Given the description of an element on the screen output the (x, y) to click on. 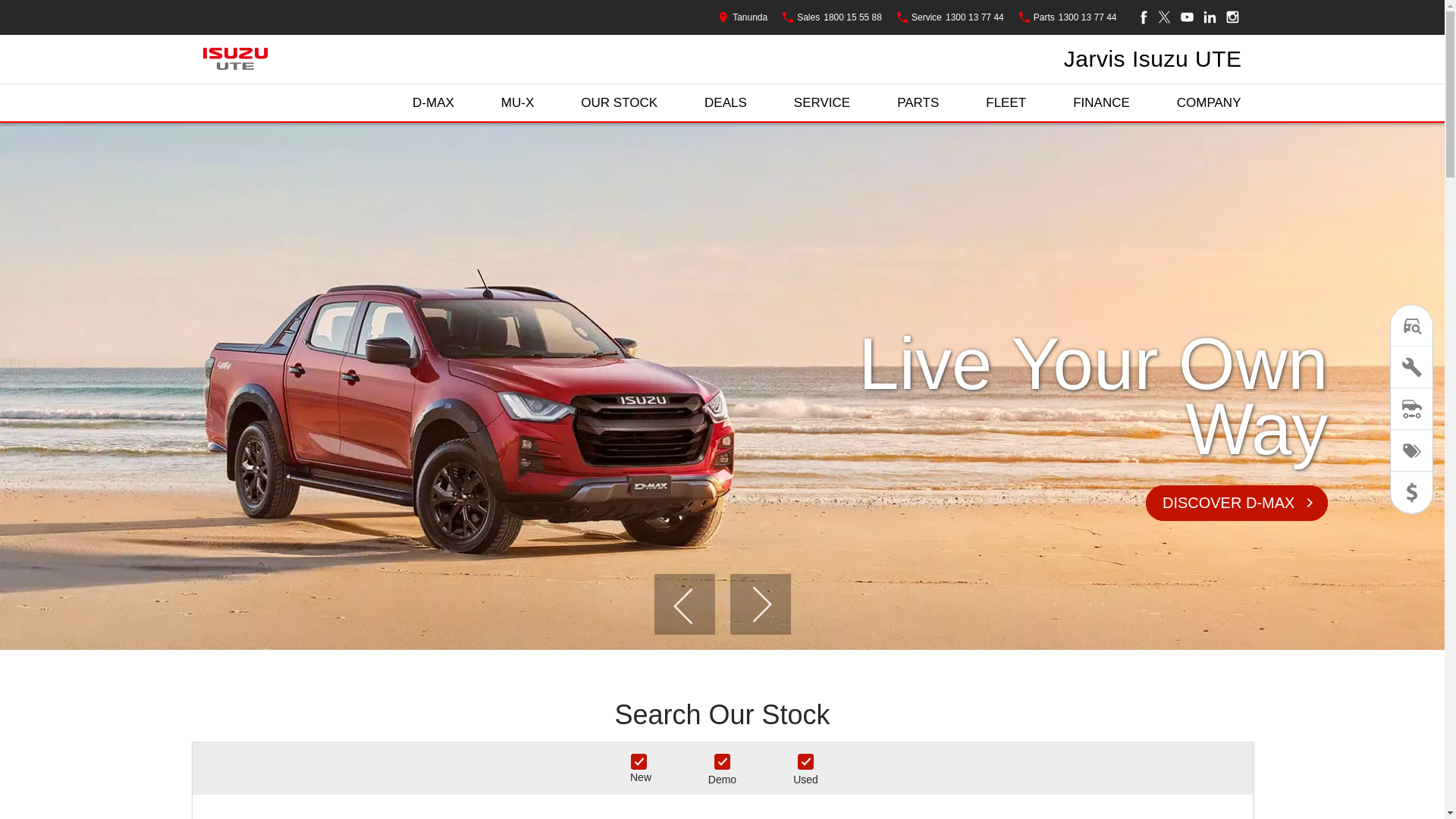
Jarvis Isuzu UTE Element type: text (1152, 59)
Sales
1800 15 55 88 Element type: text (831, 16)
Parts
1300 13 77 44 Element type: text (1068, 16)
FLEET Element type: text (1005, 102)
Live Your Own Way
DISCOVER D-MAX Element type: text (722, 385)
Previous Element type: text (683, 604)
Service
1300 13 77 44 Element type: text (950, 16)
SERVICE Element type: text (821, 102)
OUR STOCK Element type: text (618, 102)
FINANCE Element type: text (1101, 102)
Tanunda Element type: text (742, 16)
MU-X Element type: text (517, 102)
COMPANY Element type: text (1208, 102)
PARTS Element type: text (917, 102)
Next Element type: text (759, 604)
DEALS Element type: text (725, 102)
D-MAX Element type: text (433, 102)
